Given the description of an element on the screen output the (x, y) to click on. 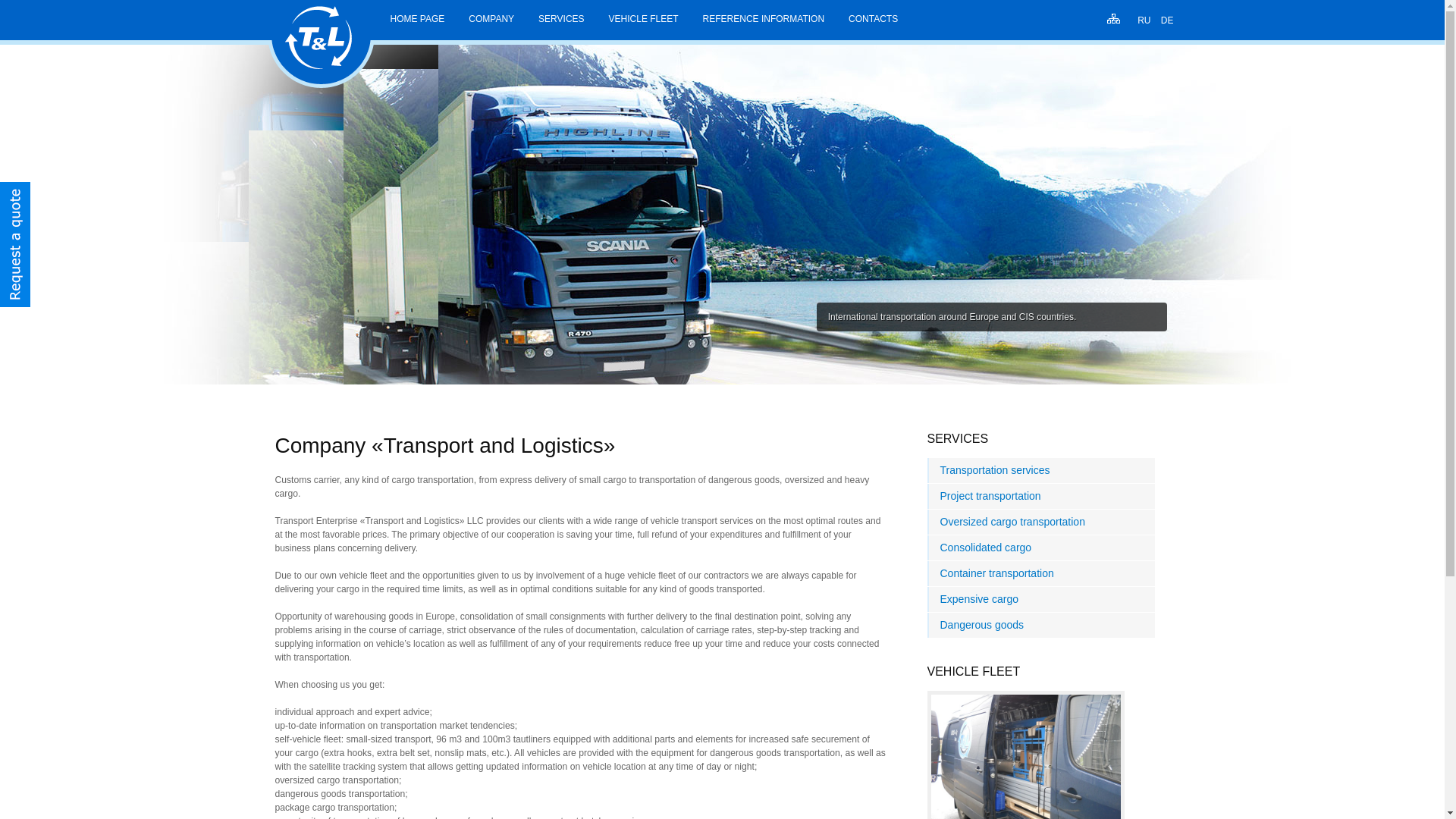
COMPANY Element type: text (491, 22)
SERVICES Element type: text (560, 22)
VEHICLE FLEET Element type: text (643, 22)
Container transportation Element type: text (1040, 573)
HOME PAGE Element type: text (416, 22)
Consolidated cargo Element type: text (1040, 547)
Send Element type: text (663, 429)
DE Element type: text (1167, 20)
CONTACTS Element type: text (872, 22)
Project transportation Element type: text (1040, 495)
RU Element type: text (1145, 20)
Dangerous goods Element type: text (1040, 624)
Expensive cargo Element type: text (1040, 598)
Transportation services Element type: text (1040, 470)
Oversized cargo transportation Element type: text (1040, 521)
REFERENCE INFORMATION Element type: text (763, 22)
